Given the description of an element on the screen output the (x, y) to click on. 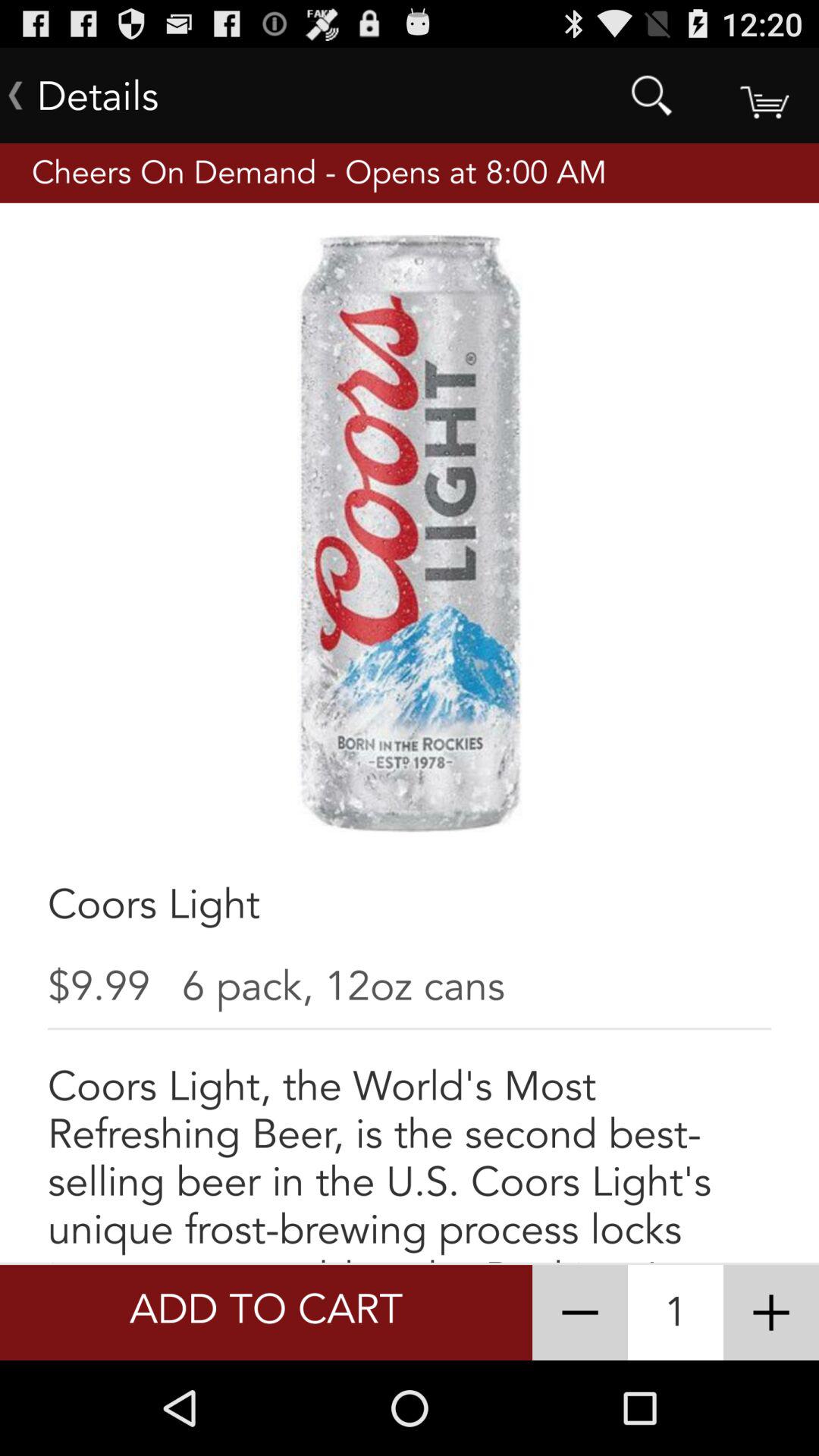
subtract 1 quantity (579, 1312)
